Given the description of an element on the screen output the (x, y) to click on. 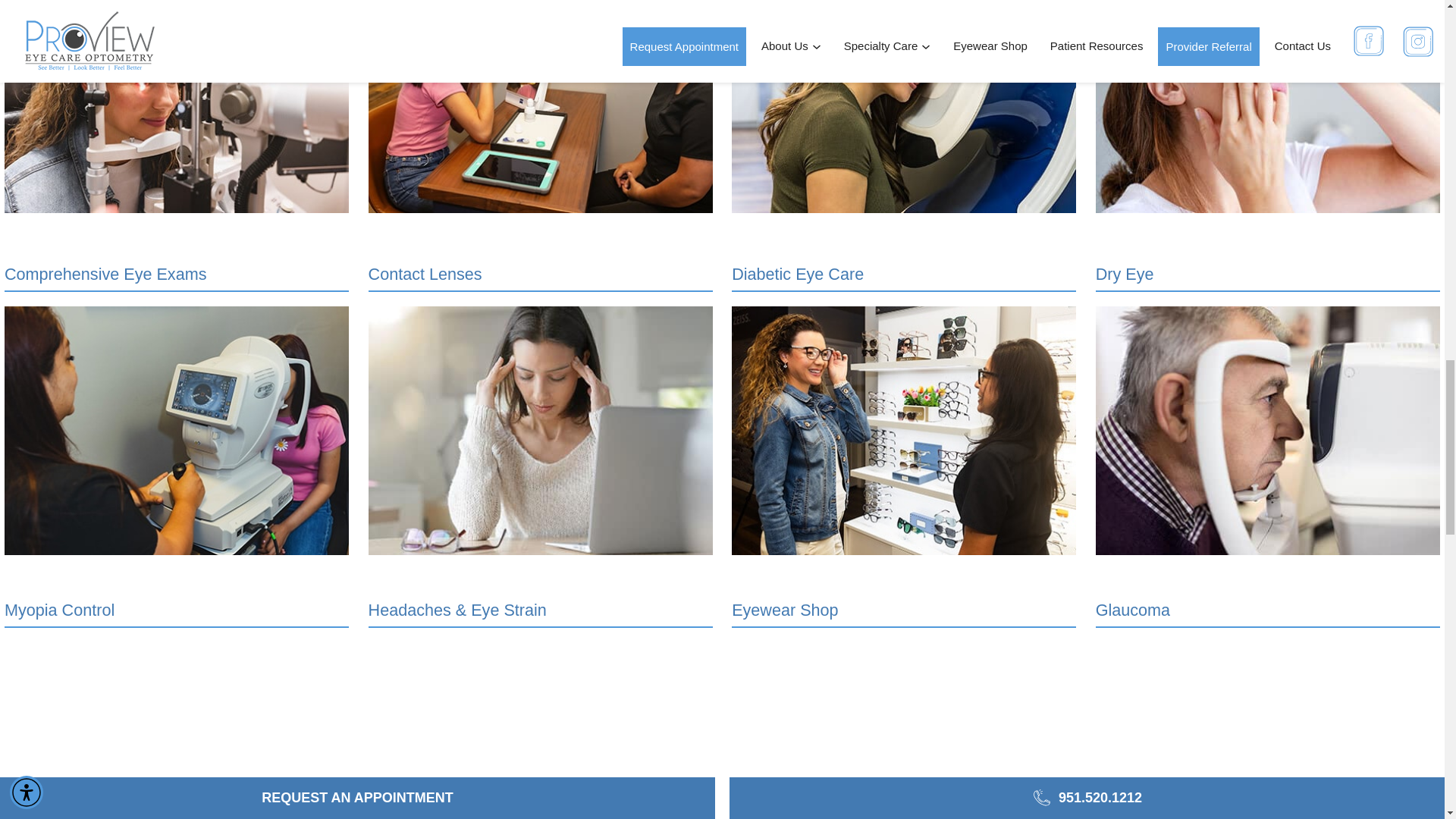
Eyewear Shop (903, 467)
Contact Lenses (540, 145)
Glaucoma (1267, 467)
Myopia Control (176, 467)
Diabetic Eye Care (903, 145)
Dry Eye (1267, 145)
Comprehensive Eye Exams (176, 145)
Headaches and Eye Strain (540, 467)
